Given the description of an element on the screen output the (x, y) to click on. 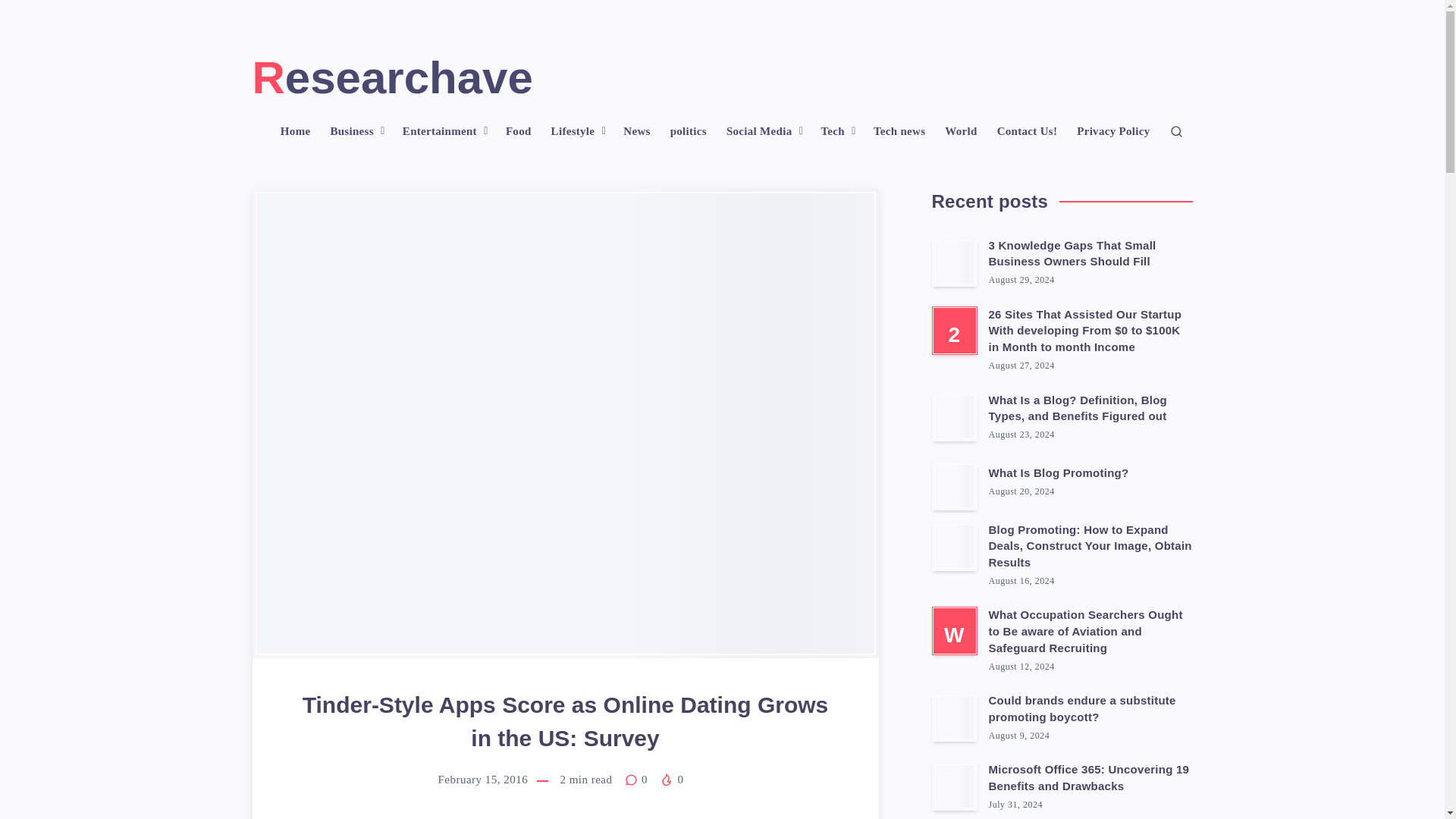
0 Views (670, 779)
Researchave (391, 77)
0 Comments (635, 779)
